Given the description of an element on the screen output the (x, y) to click on. 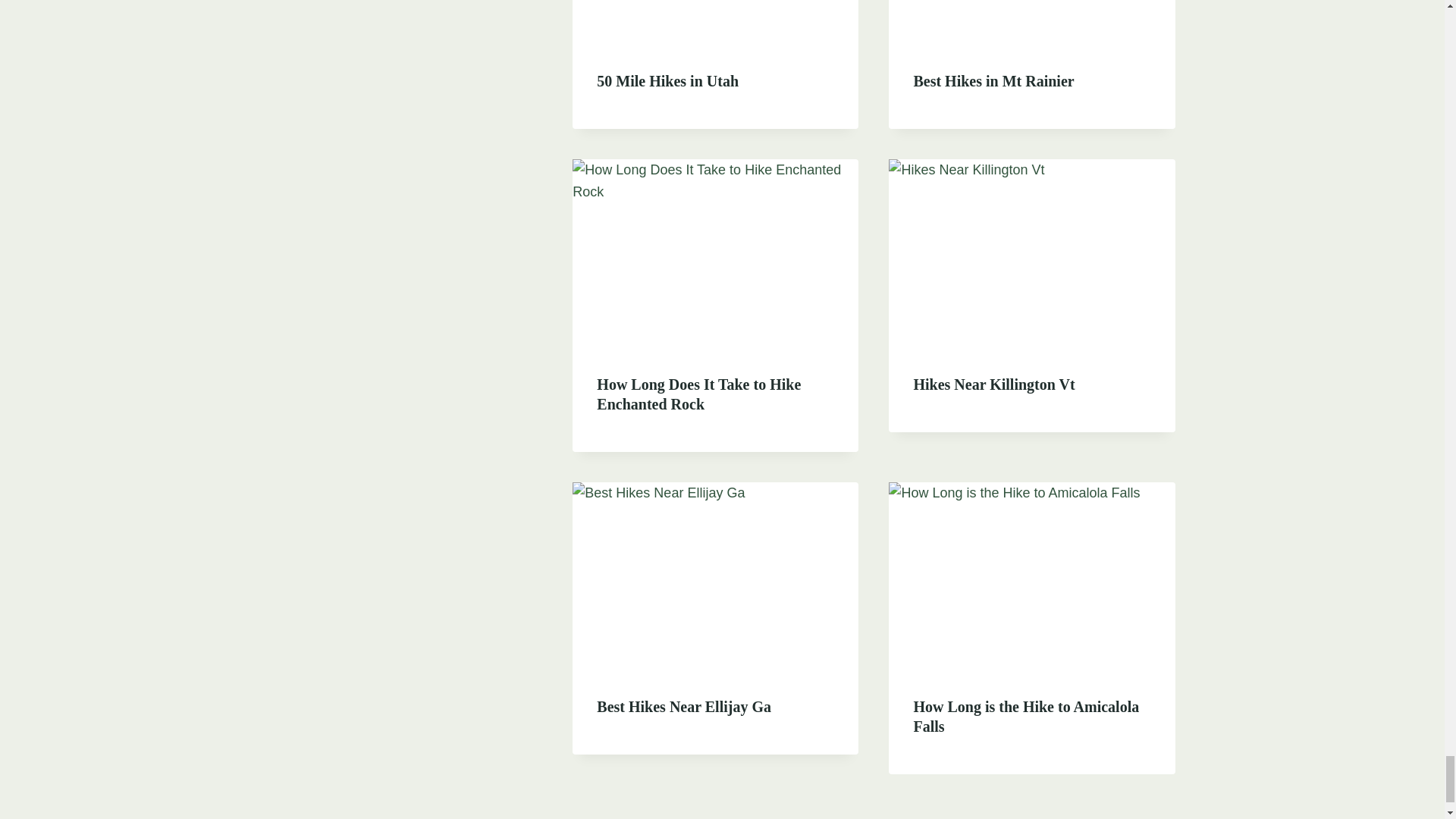
How Long Does It Take to Hike Enchanted Rock 6 (715, 253)
Hikes Near Killington Vt 7 (1031, 253)
Best Hikes Near Ellijay Ga 8 (715, 577)
Best Hikes in Mt Rainier (993, 80)
50 Mile Hikes in Utah (667, 80)
Best Hikes in Mt Rainier 5 (1031, 23)
50 Mile Hikes in Utah 4 (715, 23)
How Long is the Hike to Amicalola Falls 9 (1031, 577)
